Given the description of an element on the screen output the (x, y) to click on. 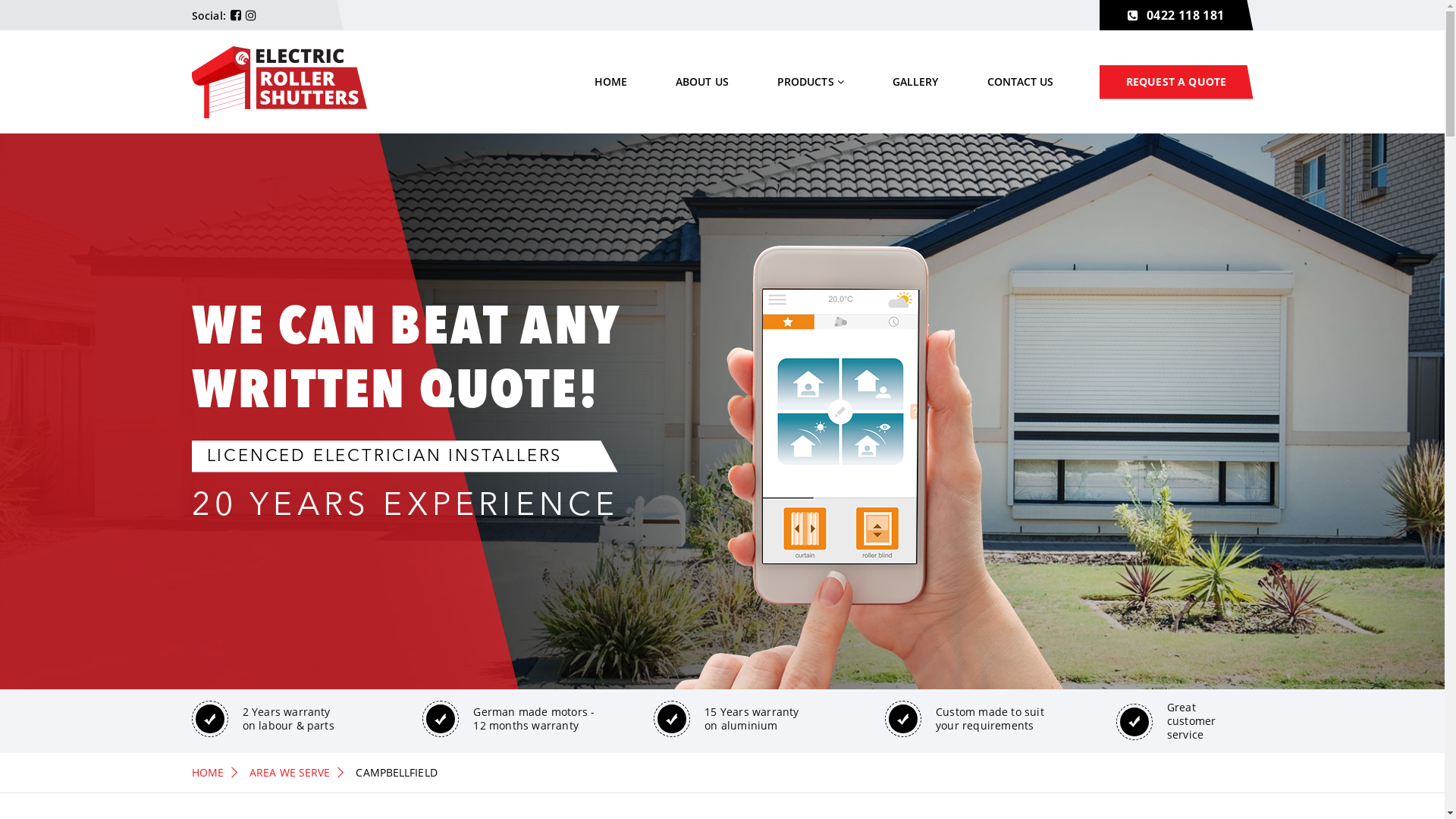
HOME Element type: text (610, 81)
REQUEST A QUOTE Element type: text (1176, 82)
ABOUT US Element type: text (701, 81)
CONTACT US Element type: text (1020, 81)
PRODUCTS Element type: text (810, 81)
0422 118 181 Element type: text (1176, 15)
AREA WE SERVE Element type: text (289, 772)
HOME Element type: text (206, 772)
GALLERY Element type: text (915, 81)
